Given the description of an element on the screen output the (x, y) to click on. 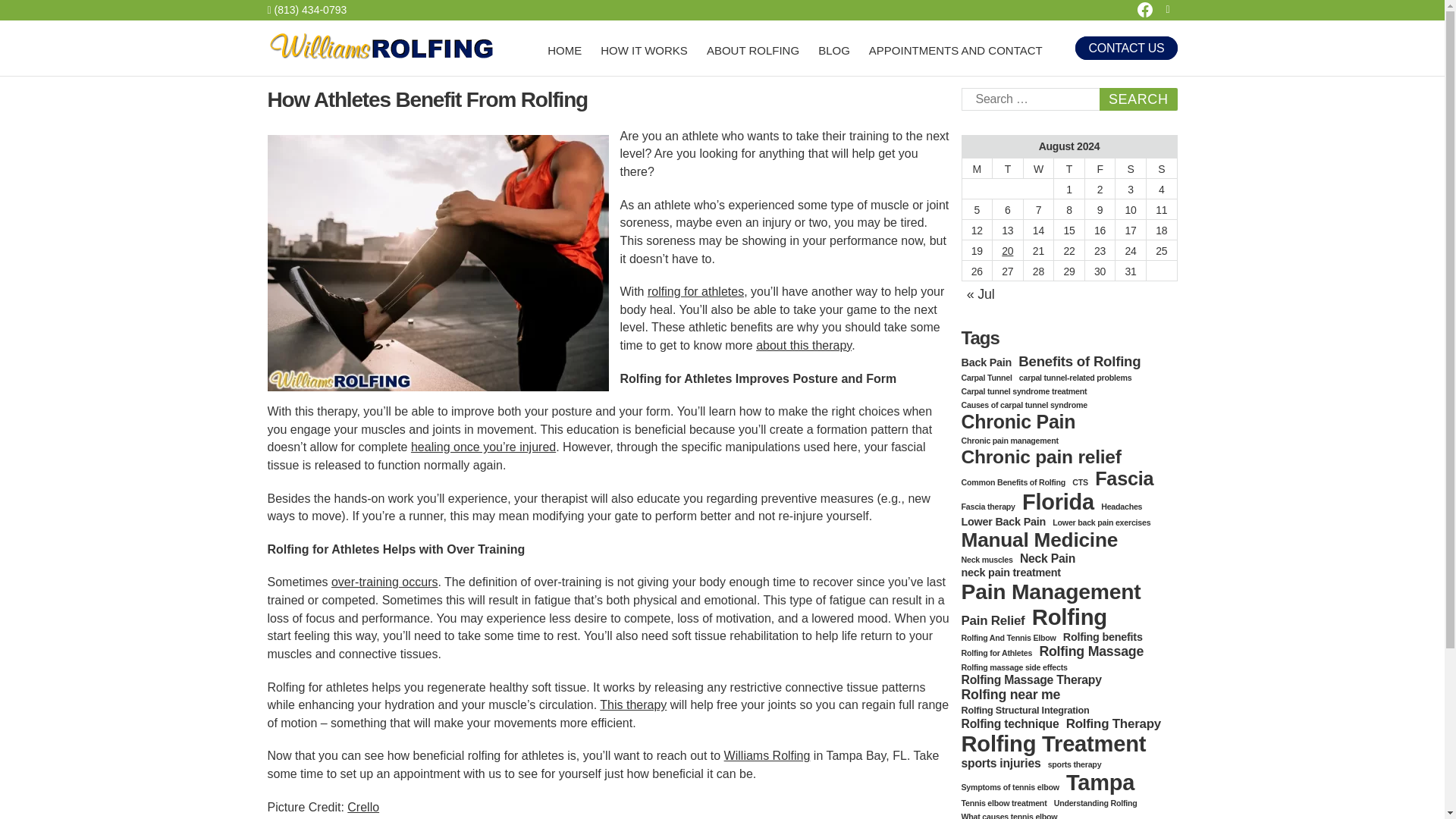
HOW IT WORKS (643, 51)
over-training occurs (384, 581)
How Athletes Benefit From Rolfing (437, 263)
Friday (1099, 168)
Tuesday (1007, 168)
BLOG (834, 51)
Causes of carpal tunnel syndrome (1023, 404)
Monday (976, 168)
Sunday (1160, 168)
Thursday (1069, 168)
